Given the description of an element on the screen output the (x, y) to click on. 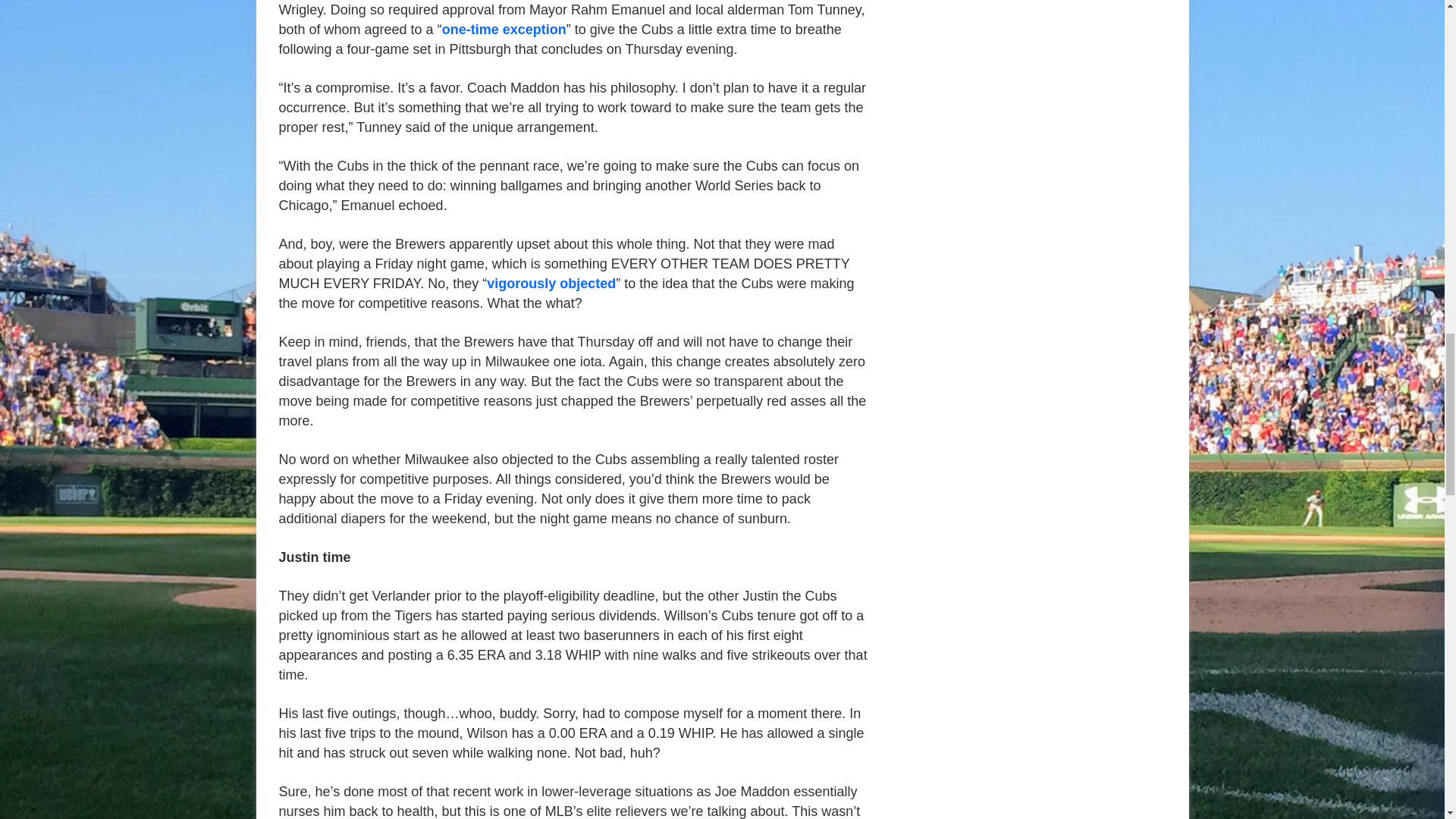
one-time exception (504, 29)
